Given the description of an element on the screen output the (x, y) to click on. 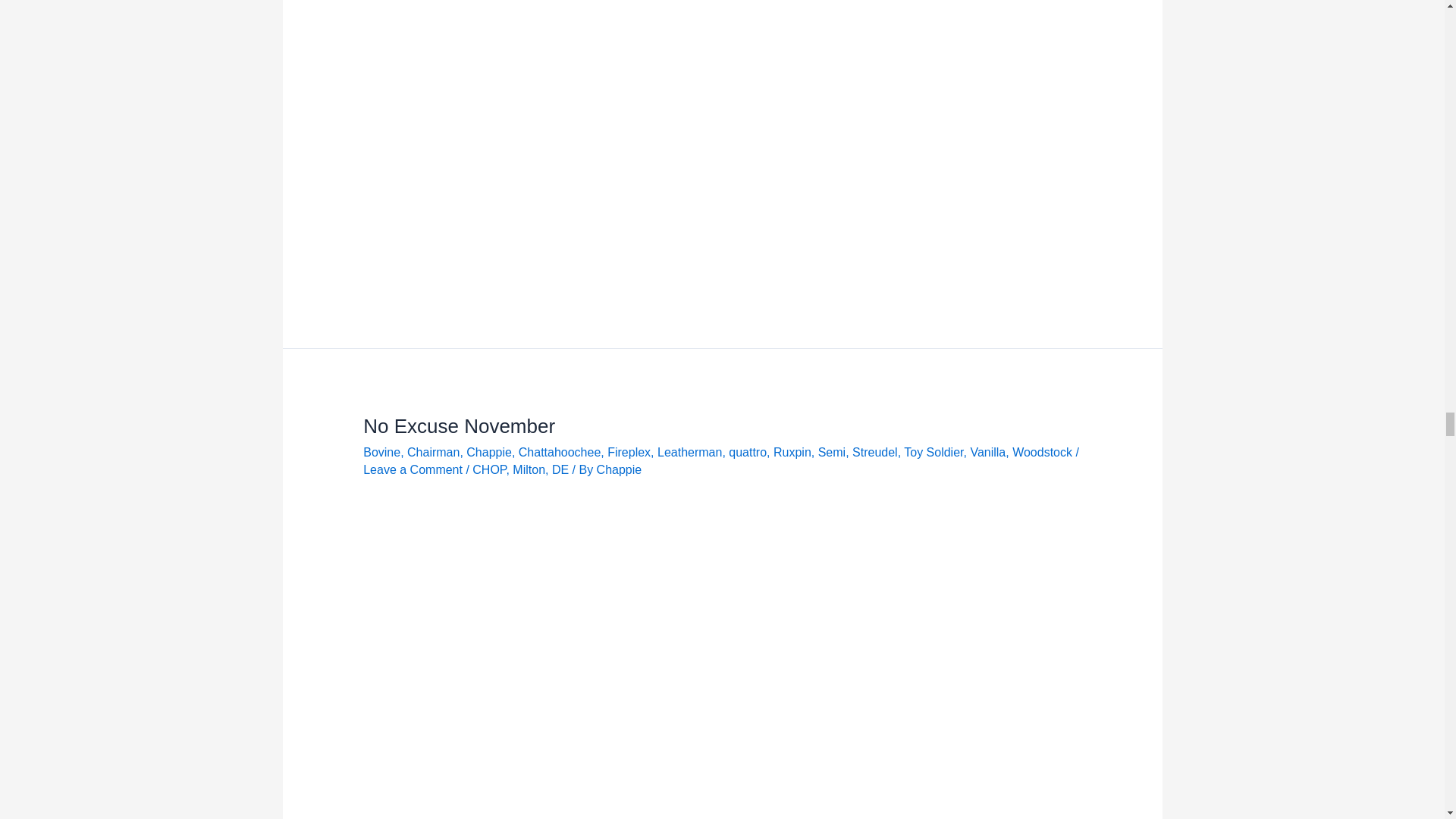
View all posts by Chappie (619, 469)
